Given the description of an element on the screen output the (x, y) to click on. 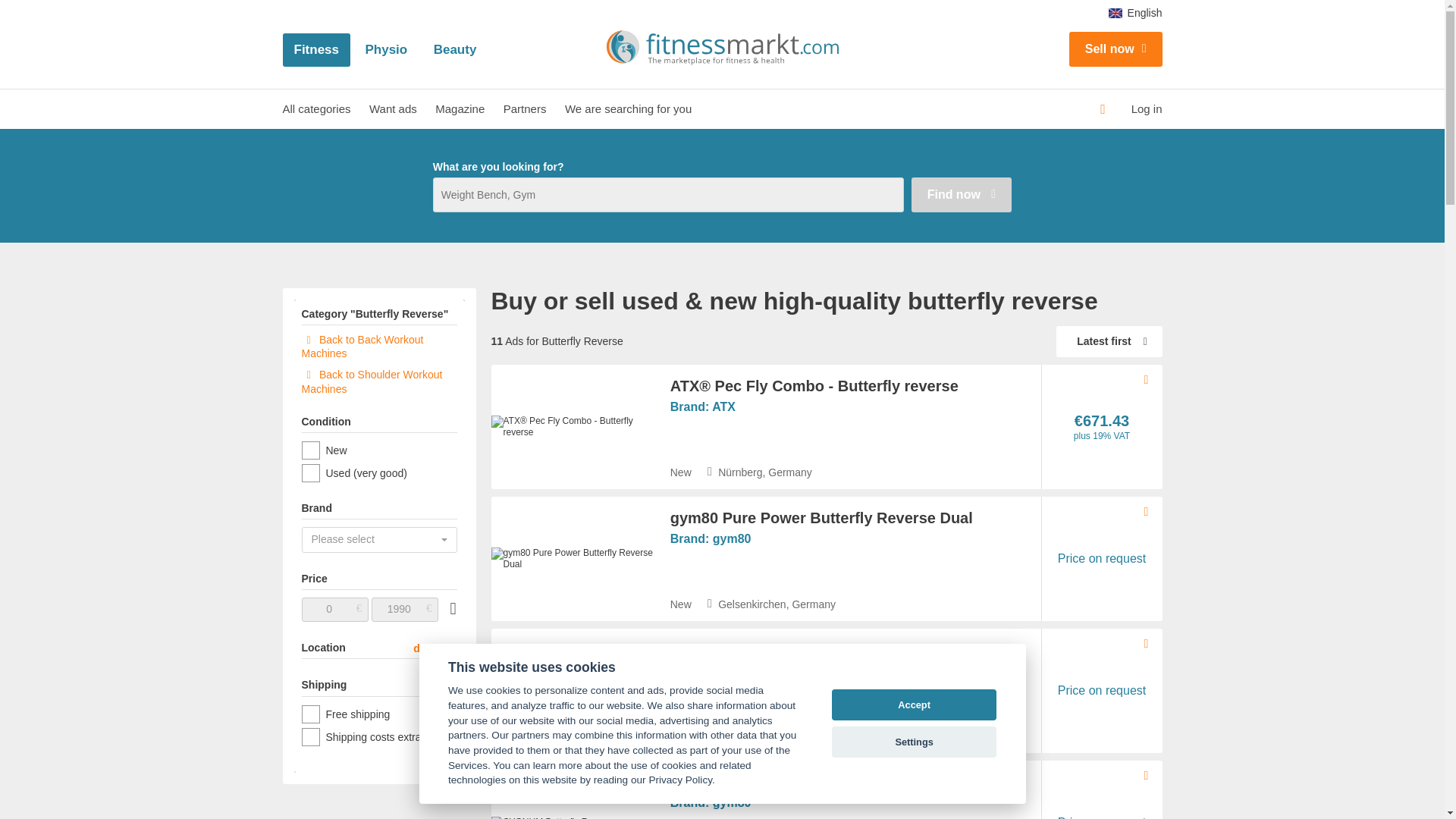
All categories (316, 108)
Buy and sell new and used gym equipment (316, 49)
Fitness (316, 49)
Check out the latest offers (316, 108)
Buy and sell new and used therapy equipment (386, 49)
Beauty (454, 49)
Buy and sell new and used wellness and beauty equipment (454, 49)
Sell now (1114, 48)
Physio (386, 49)
